Given the description of an element on the screen output the (x, y) to click on. 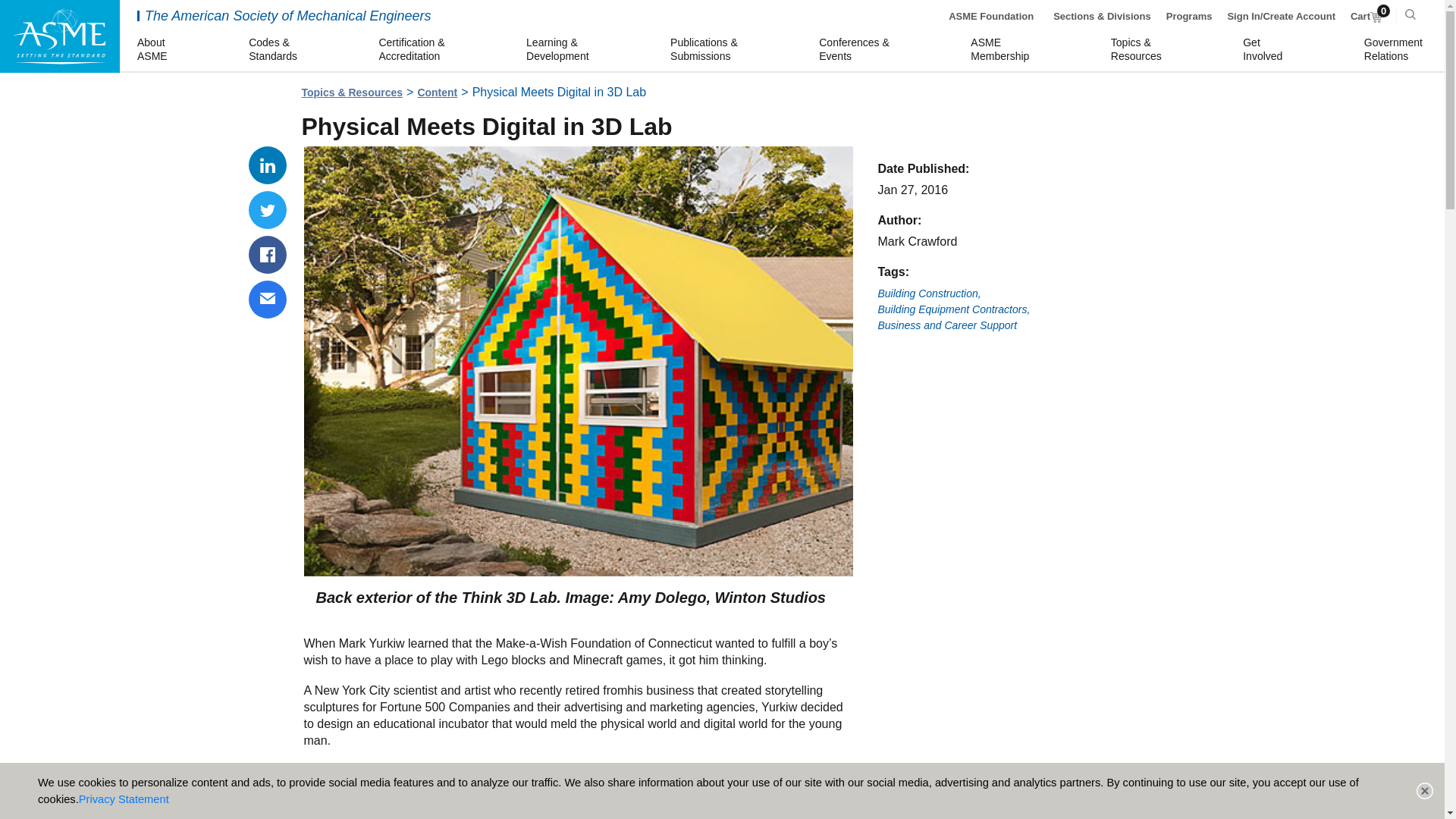
Building Equipment Contractors (953, 309)
Content (1395, 49)
Share on LinkedIn (436, 92)
Share on Facebook (267, 165)
Business and Career Support (153, 49)
Share on Twitter (267, 254)
Share via email (947, 325)
ASME (267, 209)
ASME Foundation (267, 299)
Building Construction (59, 36)
Programs (991, 16)
